Given the description of an element on the screen output the (x, y) to click on. 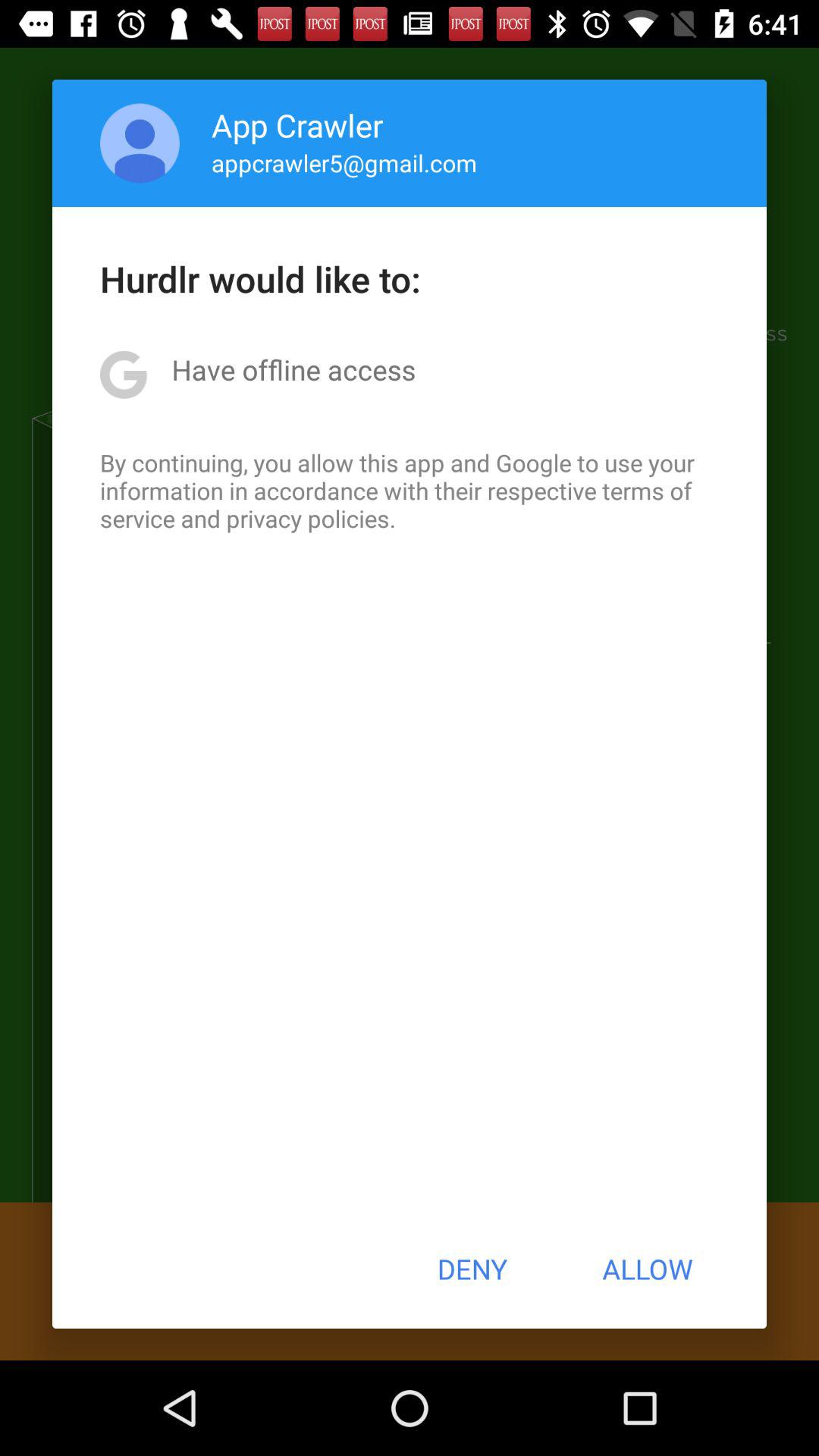
press the button to the left of allow item (471, 1268)
